Given the description of an element on the screen output the (x, y) to click on. 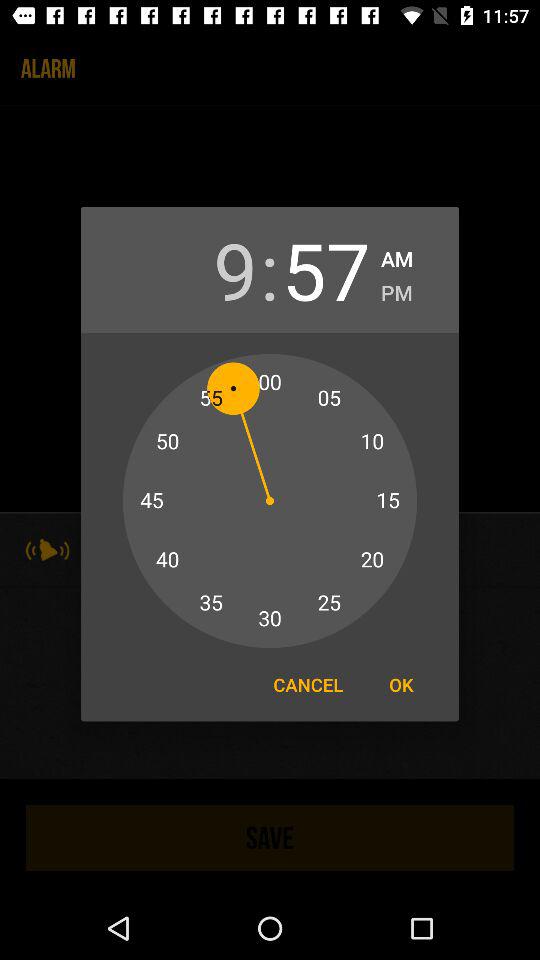
flip to the am icon (397, 256)
